Given the description of an element on the screen output the (x, y) to click on. 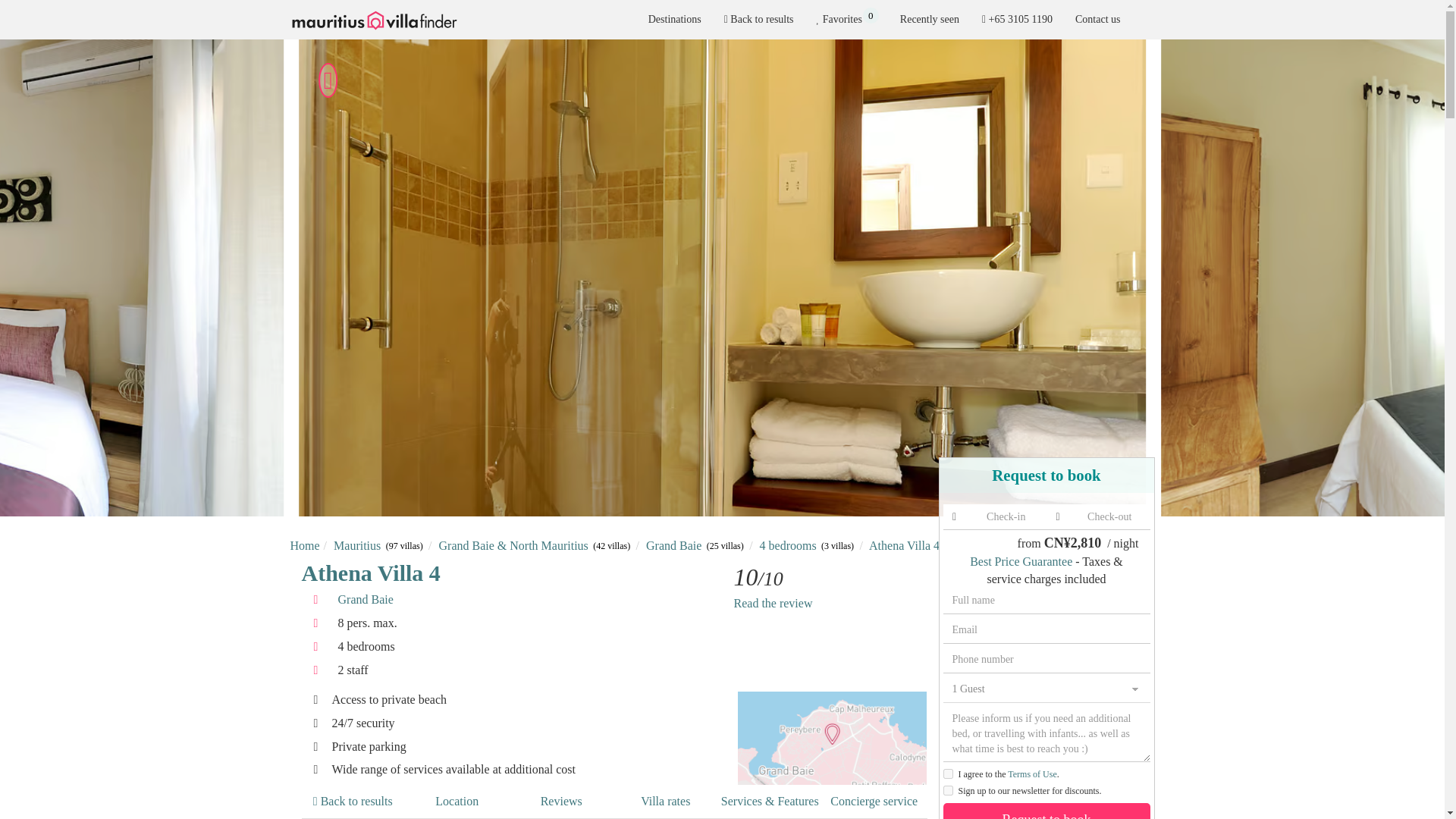
Reviews (560, 801)
1 (948, 790)
Contact us (1098, 19)
Destinations (675, 19)
Concierge service (874, 801)
Location (457, 801)
Back to results (759, 19)
Villa rates (665, 801)
Destinations (675, 19)
Recently seen (929, 19)
Read the review (772, 603)
Contact us (1098, 19)
1 (846, 19)
